Given the description of an element on the screen output the (x, y) to click on. 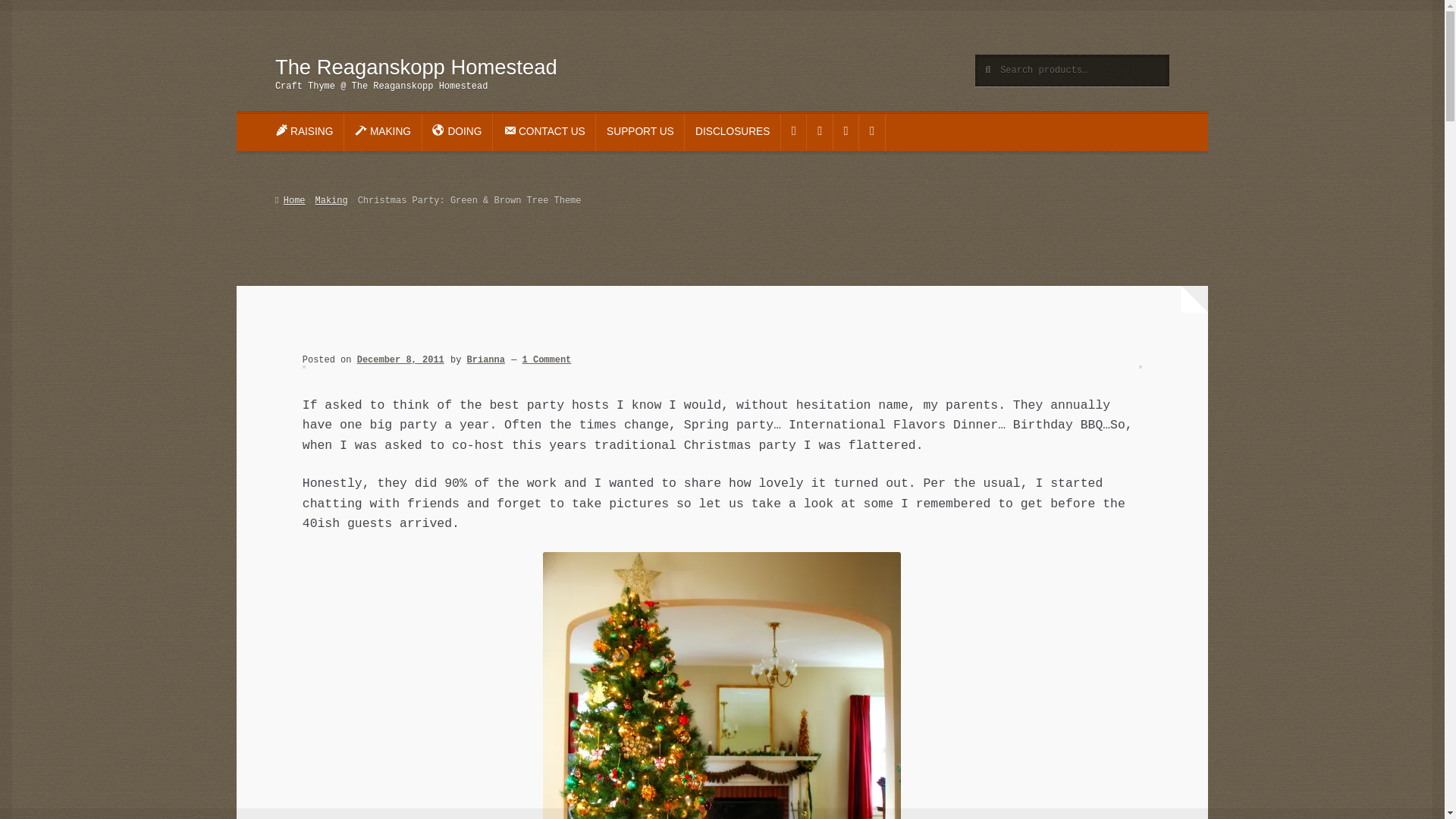
DOING (457, 132)
Home (290, 200)
CONTACT US (544, 132)
Brianna (486, 359)
christmas-party-tree-theme (722, 685)
RAISING (303, 132)
DISCLOSURES (732, 132)
MAKING (382, 132)
1 Comment (547, 359)
December 8, 2011 (400, 359)
SUPPORT US (639, 132)
Making (331, 200)
The Reaganskopp Homestead (416, 66)
